Given the description of an element on the screen output the (x, y) to click on. 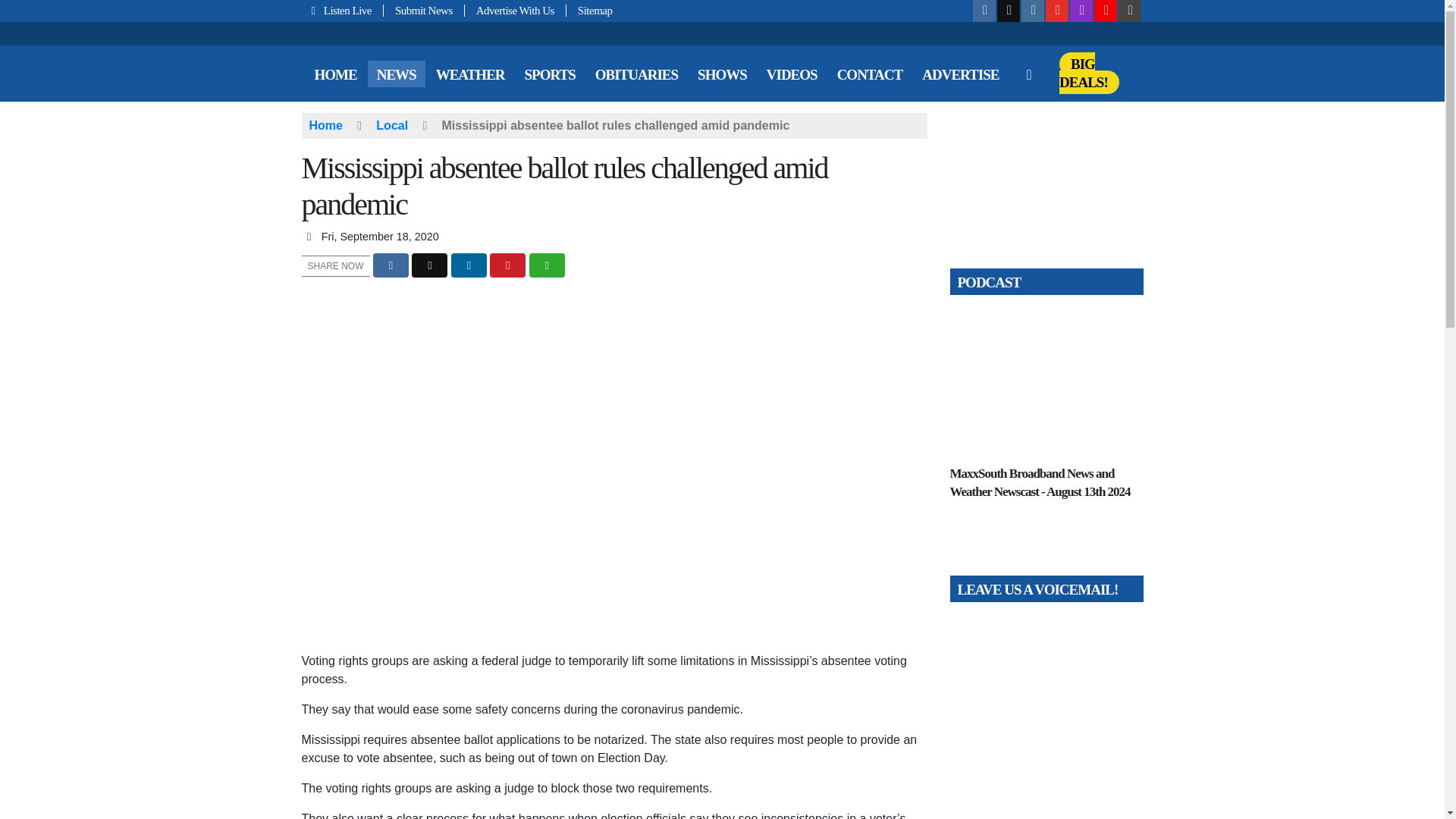
Follow us on Instagram (1032, 11)
Sitemap (589, 10)
Follow us on Facebook (983, 11)
Follow our Podcast (1081, 11)
Follow us on X (1008, 11)
Submit News (424, 10)
Follow us on Youtube (1056, 11)
Follow us on Soundcloud (1105, 11)
Advertise With Us (515, 10)
Listen Live (342, 10)
